Given the description of an element on the screen output the (x, y) to click on. 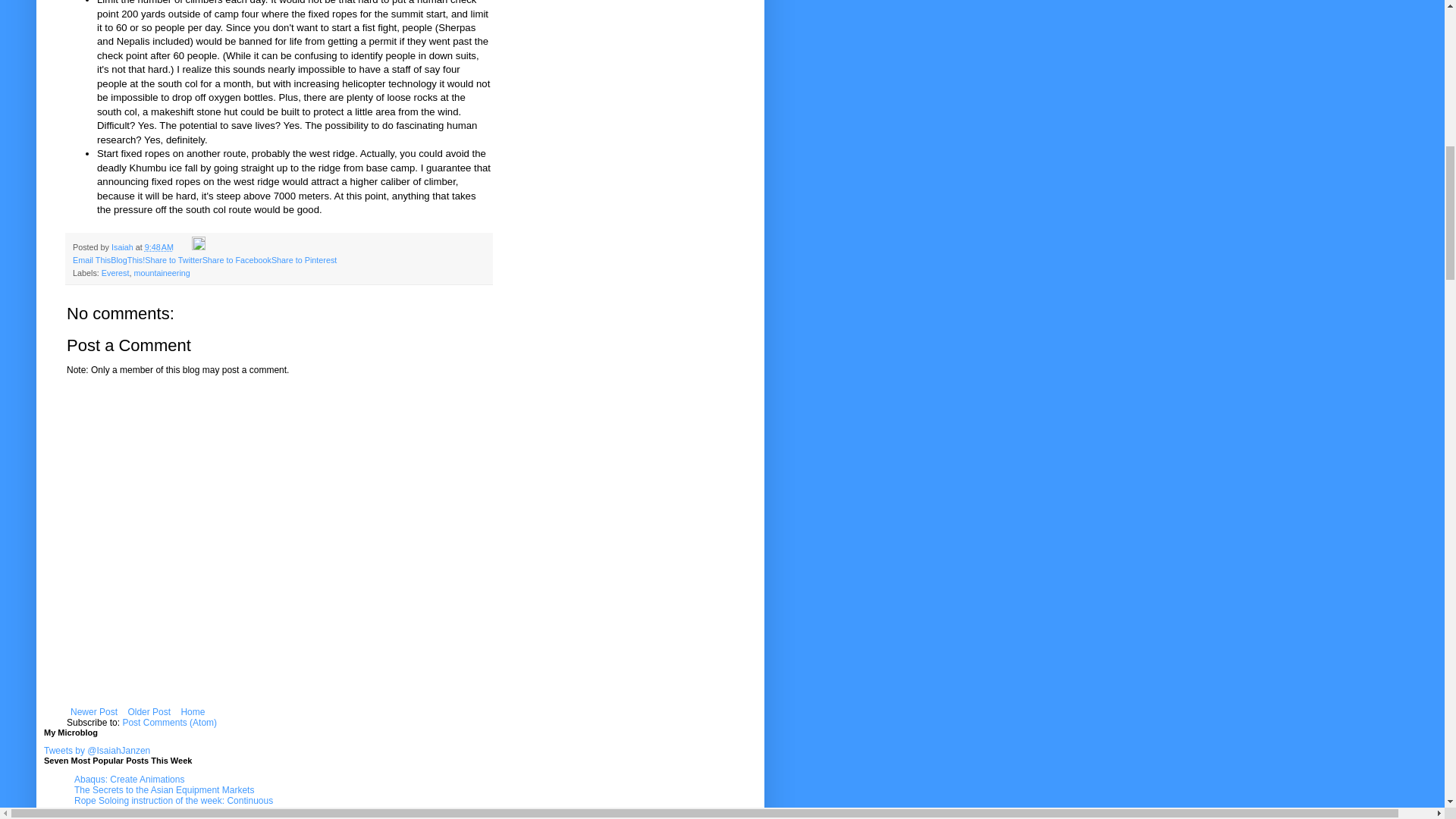
Everest (115, 272)
Older Post (148, 711)
Email Post (184, 246)
BlogThis! (127, 259)
Newer Post (93, 711)
Email This (91, 259)
Share to Twitter (173, 259)
Share to Twitter (173, 259)
Share to Facebook (236, 259)
Home (192, 711)
author profile (123, 246)
permanent link (158, 246)
The Secrets to the Asian Equipment Markets (163, 789)
Isaiah (123, 246)
